Given the description of an element on the screen output the (x, y) to click on. 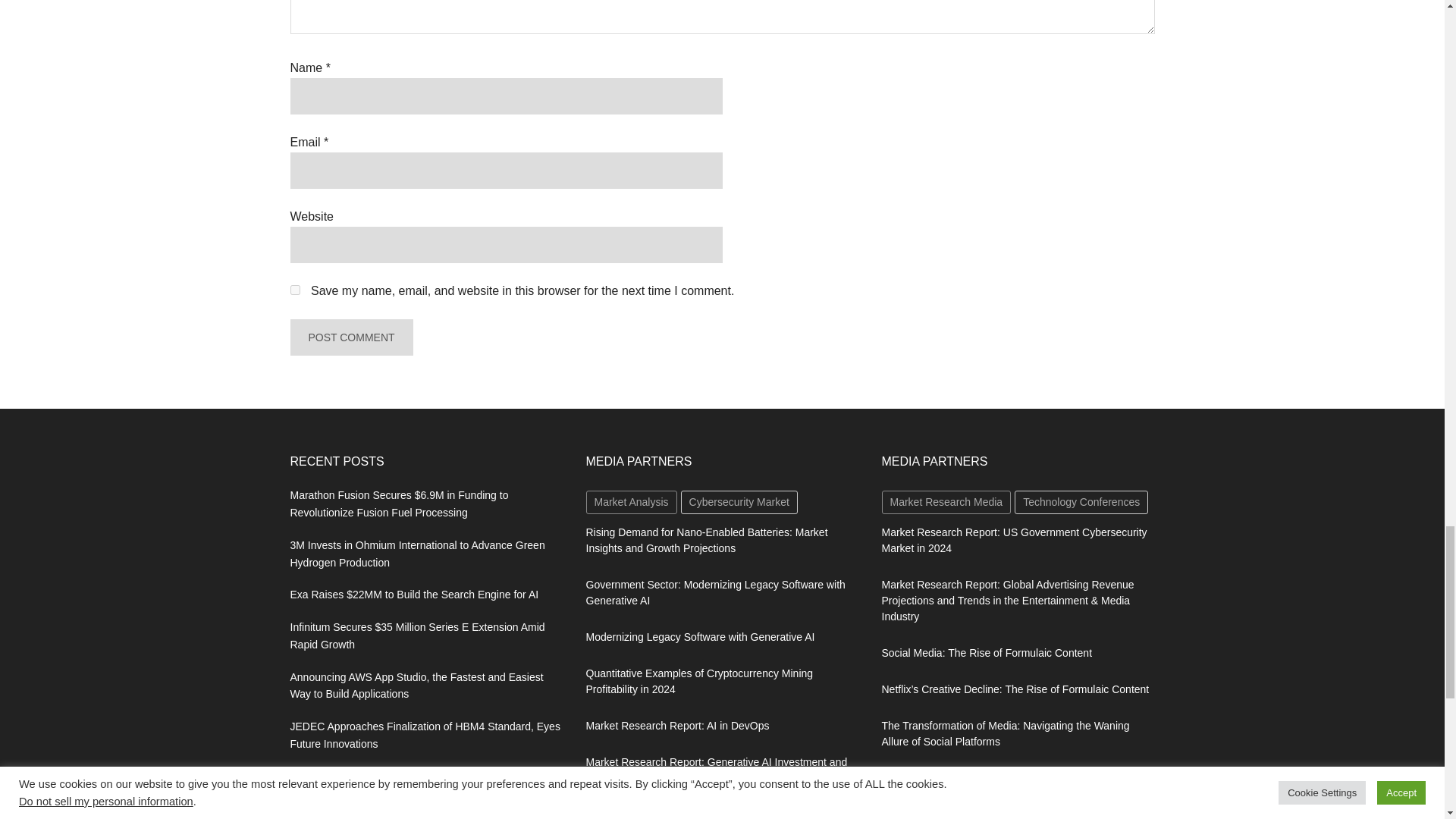
Market Research Report: AI in DevOps (676, 725)
Modernizing Legacy Software with Generative AI (699, 636)
Post Comment (350, 337)
Modernizing Legacy Software with Generative AI (699, 636)
Post Comment (350, 337)
